Given the description of an element on the screen output the (x, y) to click on. 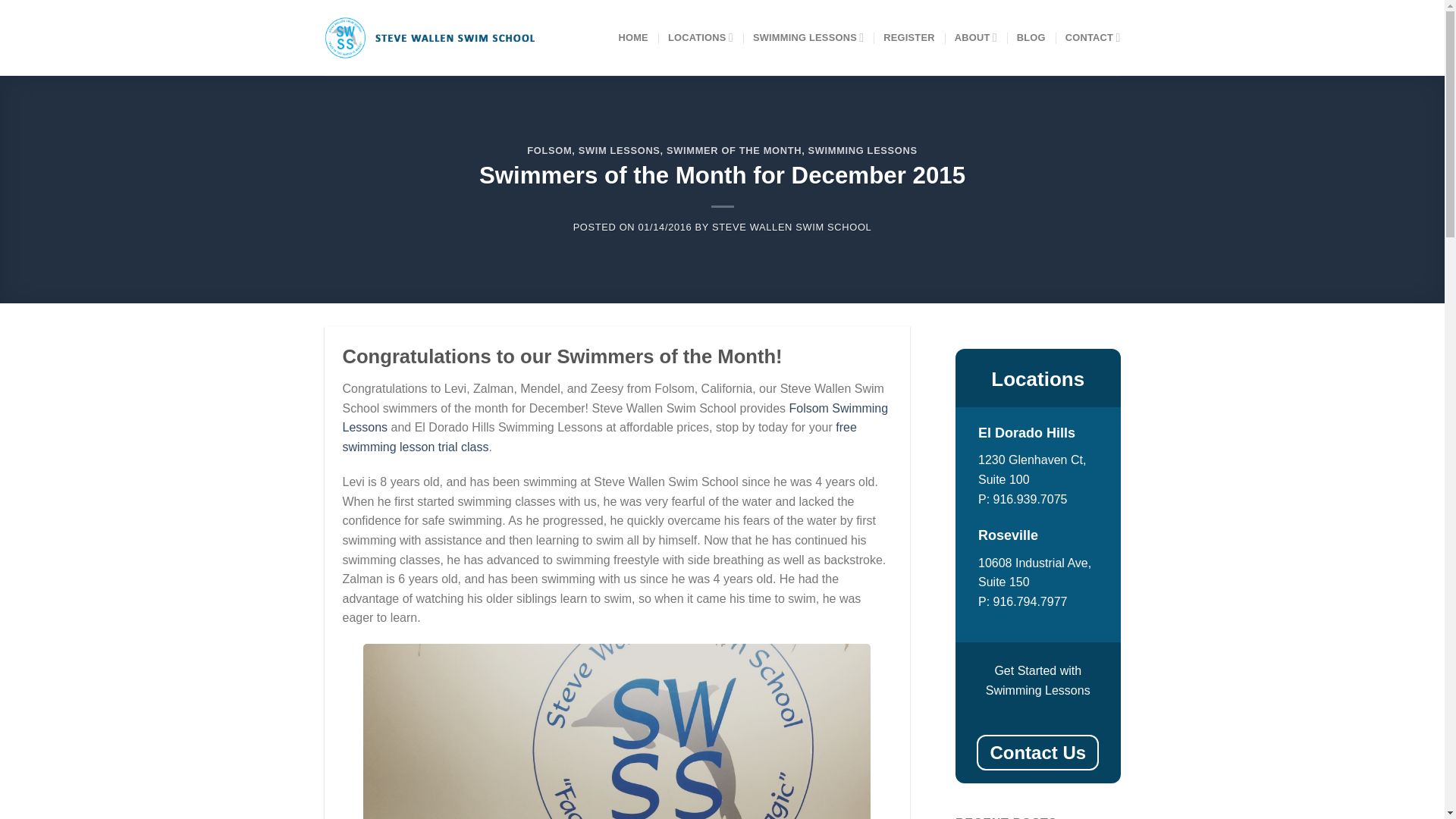
REGISTER (908, 37)
HOME (632, 37)
SWIM LESSONS (619, 150)
SWIMMING LESSONS (807, 37)
free swimming lesson trial class (599, 436)
STEVE WALLEN SWIM SCHOOL (790, 226)
SWIMMER OF THE MONTH (734, 150)
FOLSOM (549, 150)
SWIMMING LESSONS (862, 150)
ABOUT (976, 37)
